Given the description of an element on the screen output the (x, y) to click on. 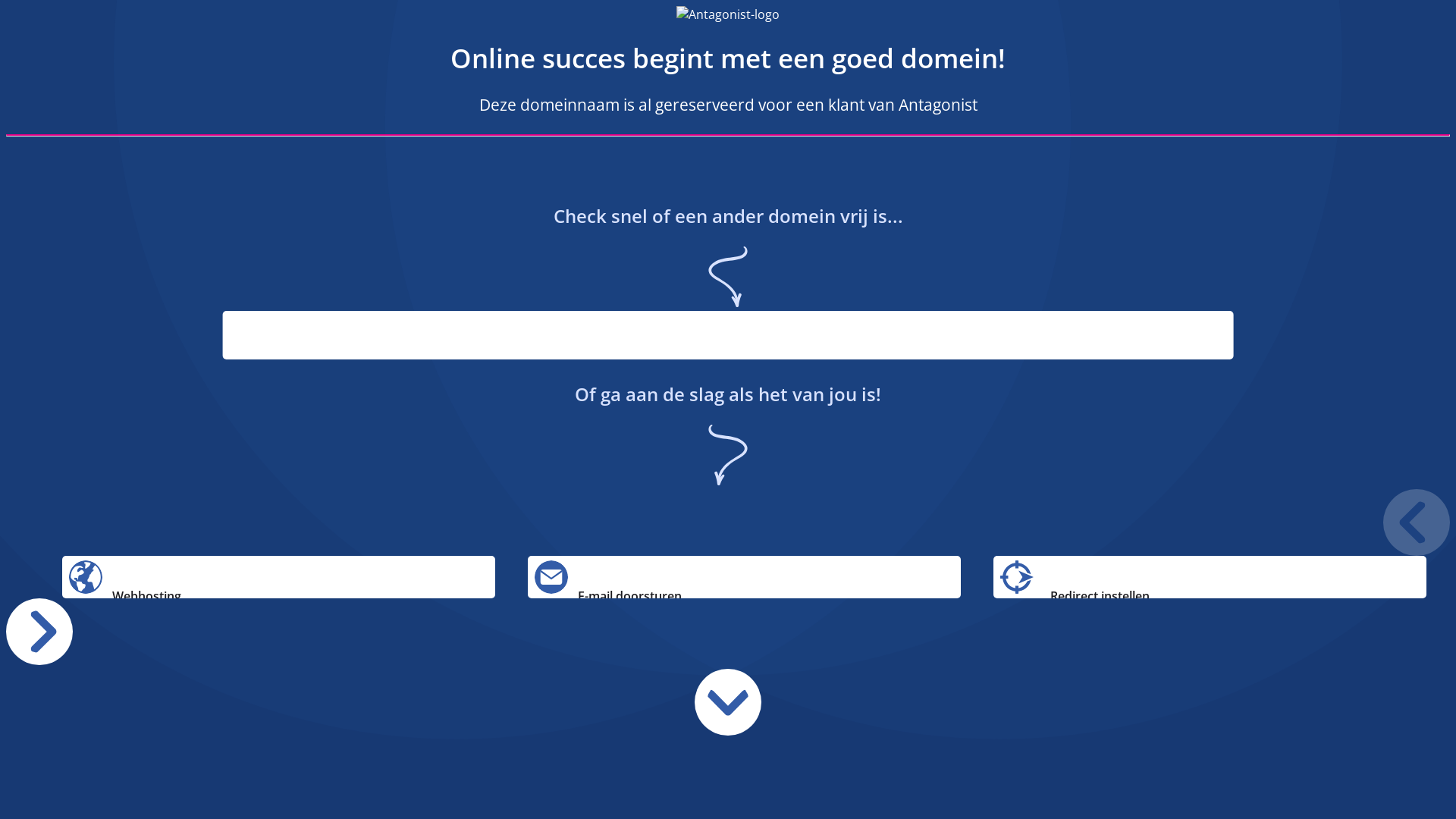
Redirect instellen voor je domein Element type: hover (1016, 577)
Check Element type: text (1171, 385)
Antagonist-logo Element type: hover (727, 14)
Webhosting Element type: text (278, 576)
Website van Antagonist Element type: hover (418, 14)
E-mail doorsturen Element type: hover (551, 577)
E-mail doorsturen Element type: text (743, 576)
> Redirect instellen Element type: text (1209, 576)
Begin met webhosting Element type: hover (85, 577)
